Given the description of an element on the screen output the (x, y) to click on. 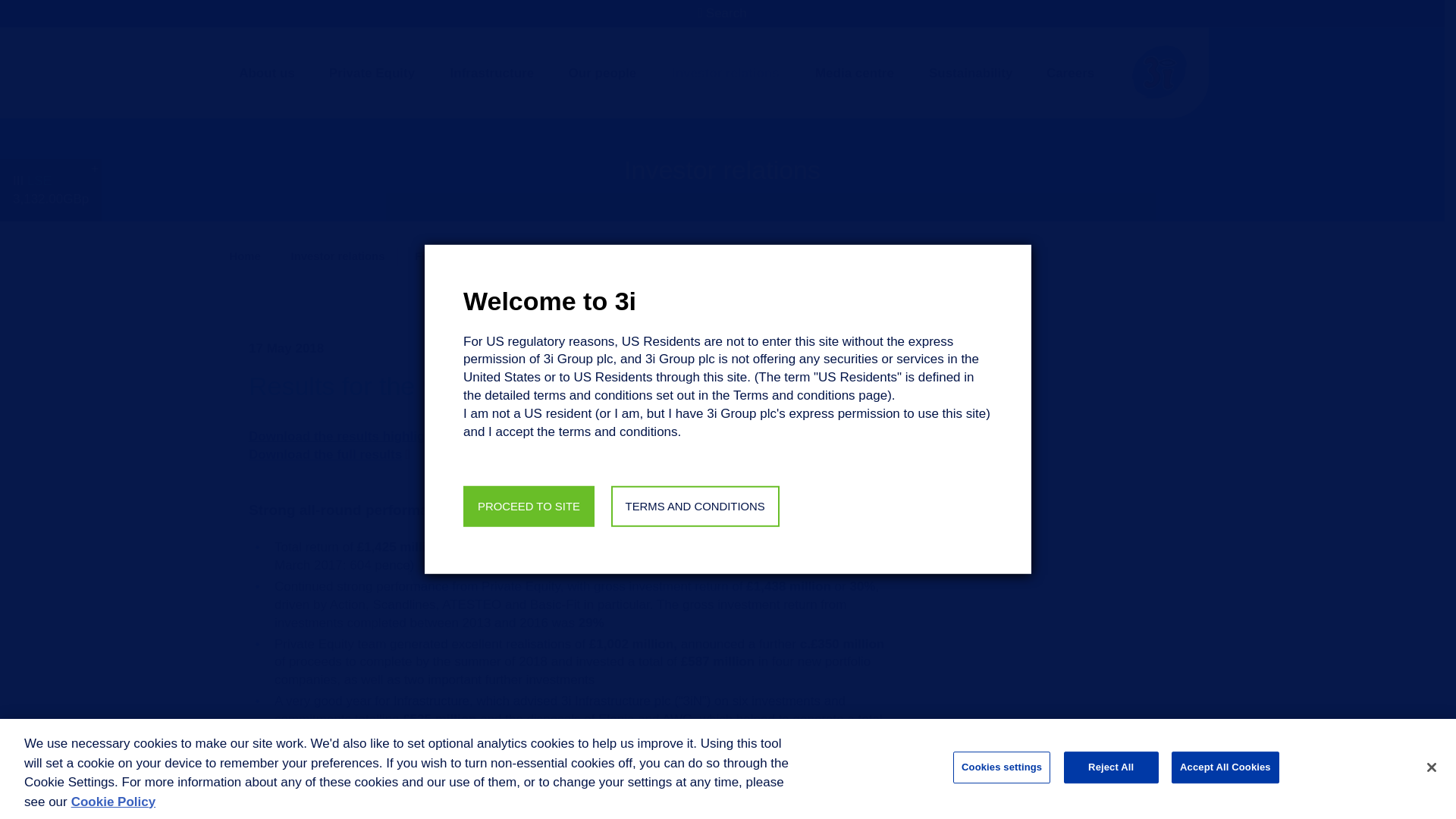
Our people (602, 73)
Private Equity (371, 73)
Investor relations (725, 73)
Infrastructure (492, 73)
PROCEED TO SITE (528, 506)
3i Group AR 2018 Press release Highlights.pdf (346, 436)
3i (528, 506)
About us (266, 73)
TERMS AND CONDITIONS (694, 506)
Download the full results (324, 454)
